Given the description of an element on the screen output the (x, y) to click on. 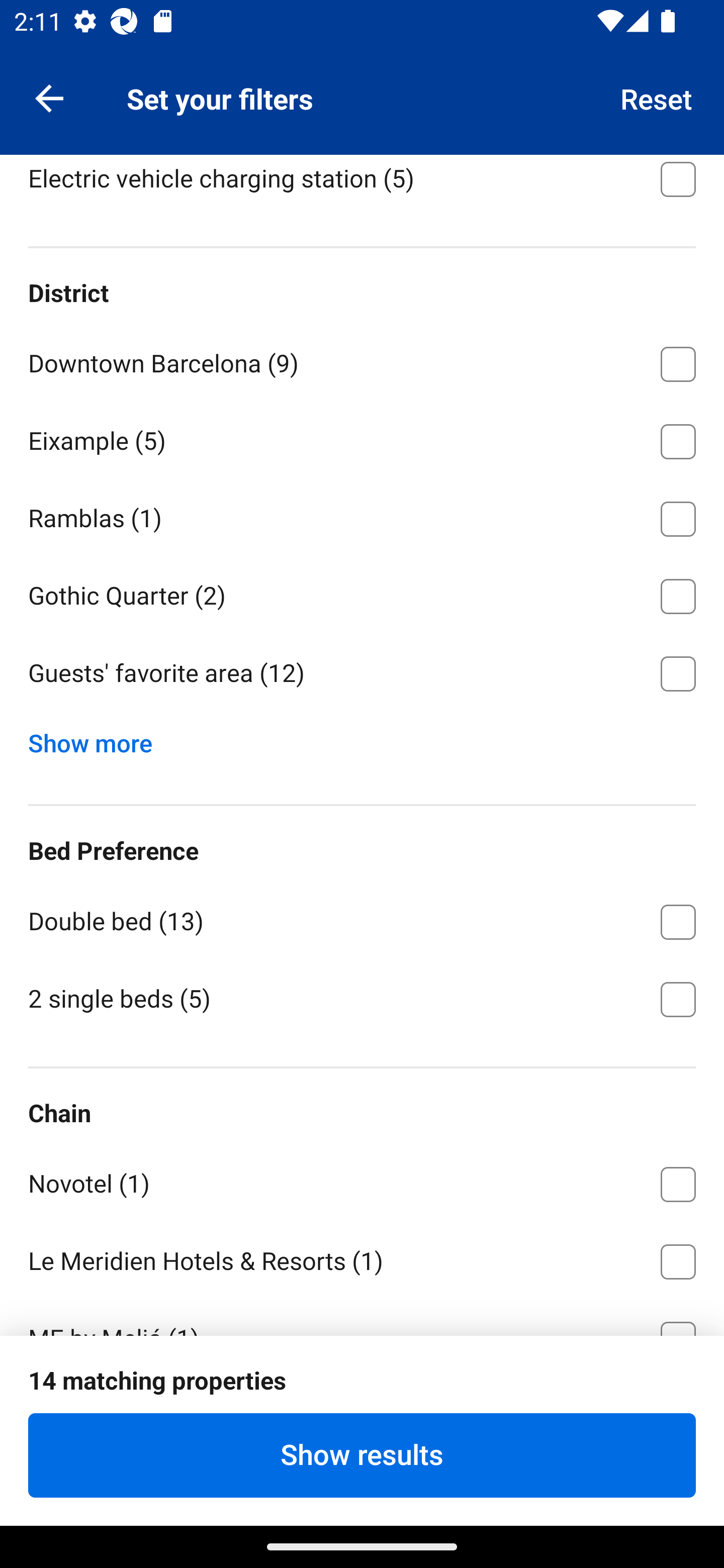
Navigate up (49, 97)
Wheelchair accessible ⁦(8) (361, 98)
Reset (656, 97)
Electric vehicle charging station ⁦(5) (361, 186)
Downtown Barcelona ⁦(9) (361, 360)
Eixample ⁦(5) (361, 437)
Ramblas ⁦(1) (361, 515)
Gothic Quarter ⁦(2) (361, 593)
Guests' favorite area ⁦(12) (361, 673)
Show more (97, 739)
Double bed ⁦(13) (361, 918)
2 single beds ⁦(5) (361, 998)
Novotel ⁦(1) (361, 1181)
Le Meridien Hotels & Resorts ⁦(1) (361, 1257)
Show results (361, 1454)
